Given the description of an element on the screen output the (x, y) to click on. 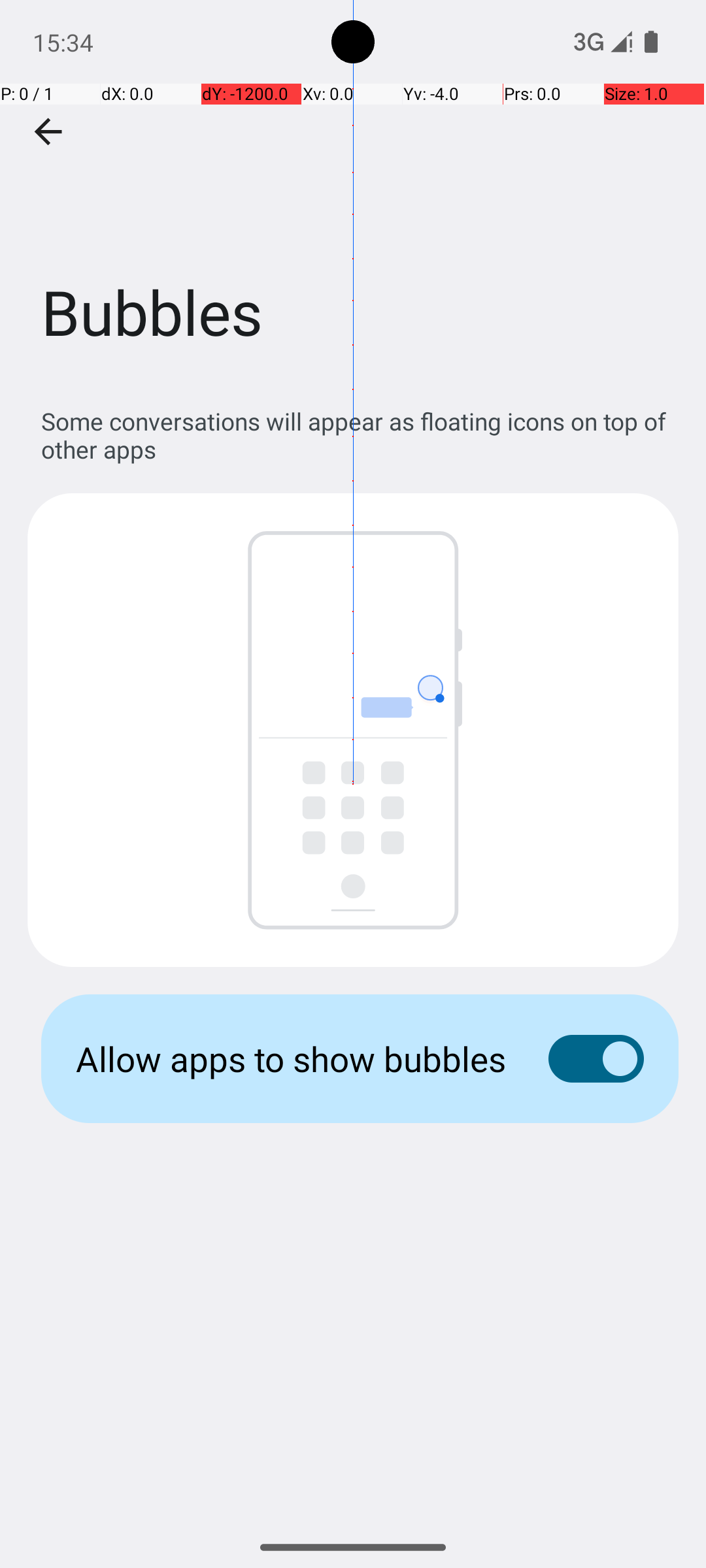
Some conversations will appear as floating icons on top of other apps Element type: android.widget.TextView (359, 434)
Allow apps to show bubbles Element type: android.widget.TextView (291, 1058)
